Given the description of an element on the screen output the (x, y) to click on. 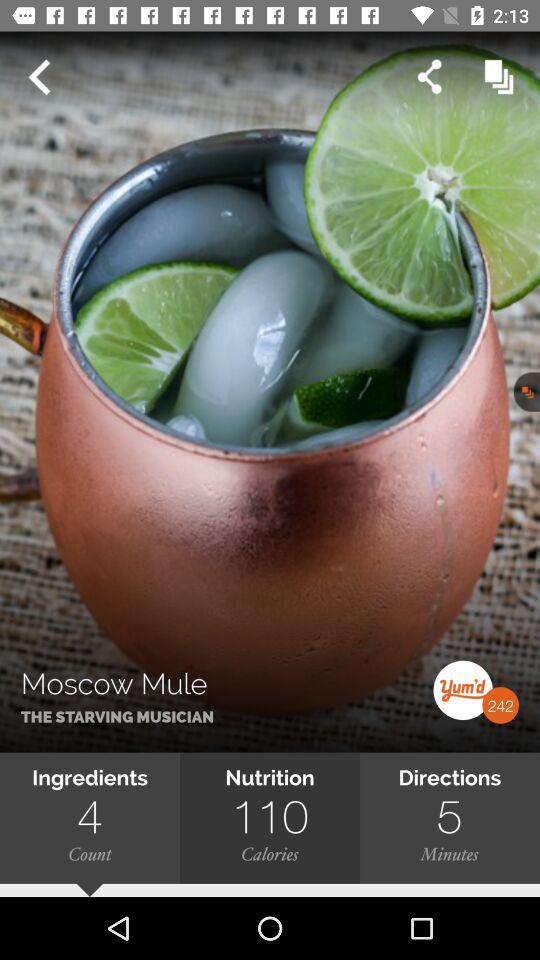
share recipe (429, 76)
